Given the description of an element on the screen output the (x, y) to click on. 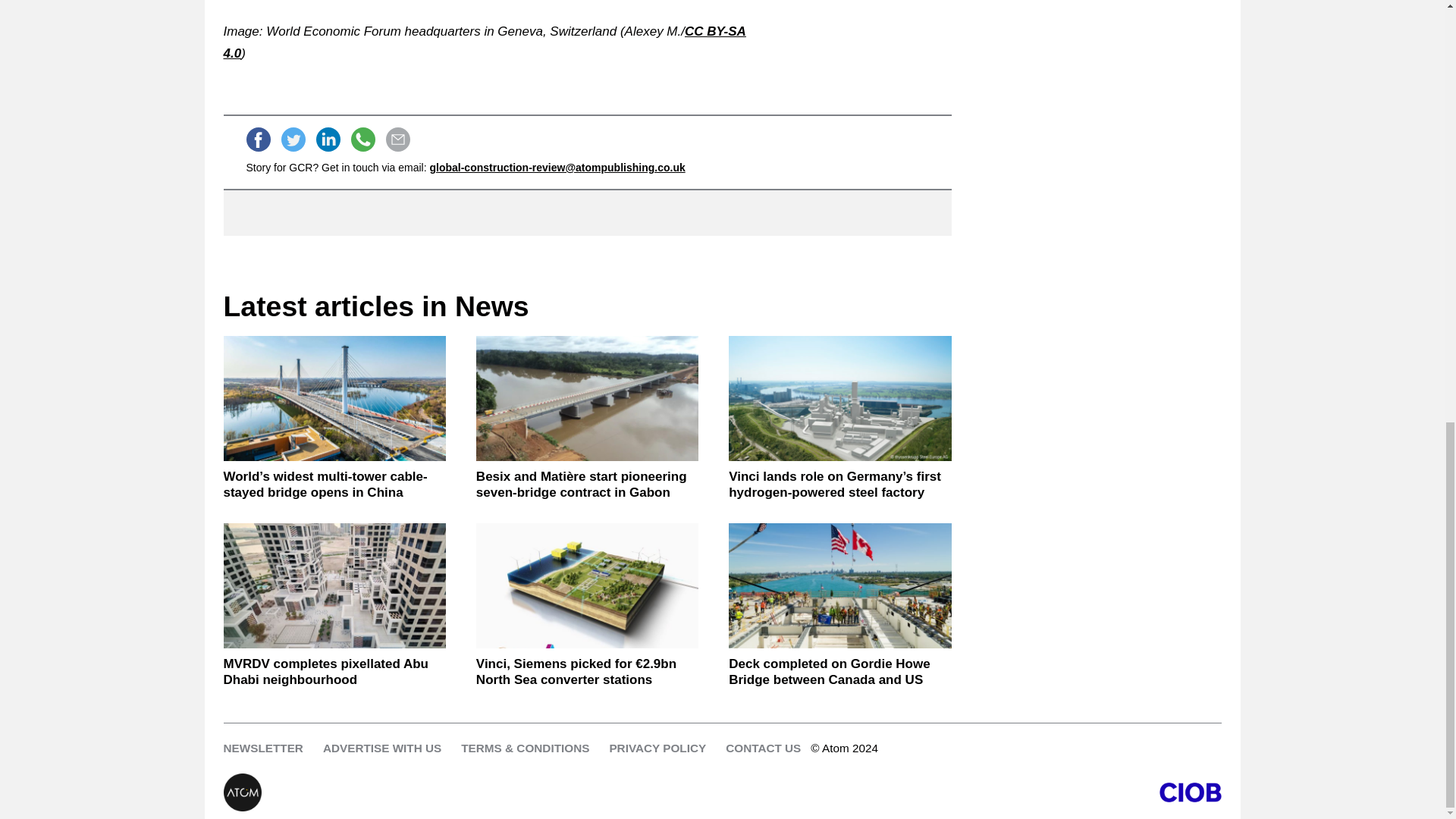
Share on LinkedIn (327, 139)
Send email (397, 139)
Share on WhatsApp (362, 139)
Tweet (292, 139)
Share on Facebook (257, 139)
